Given the description of an element on the screen output the (x, y) to click on. 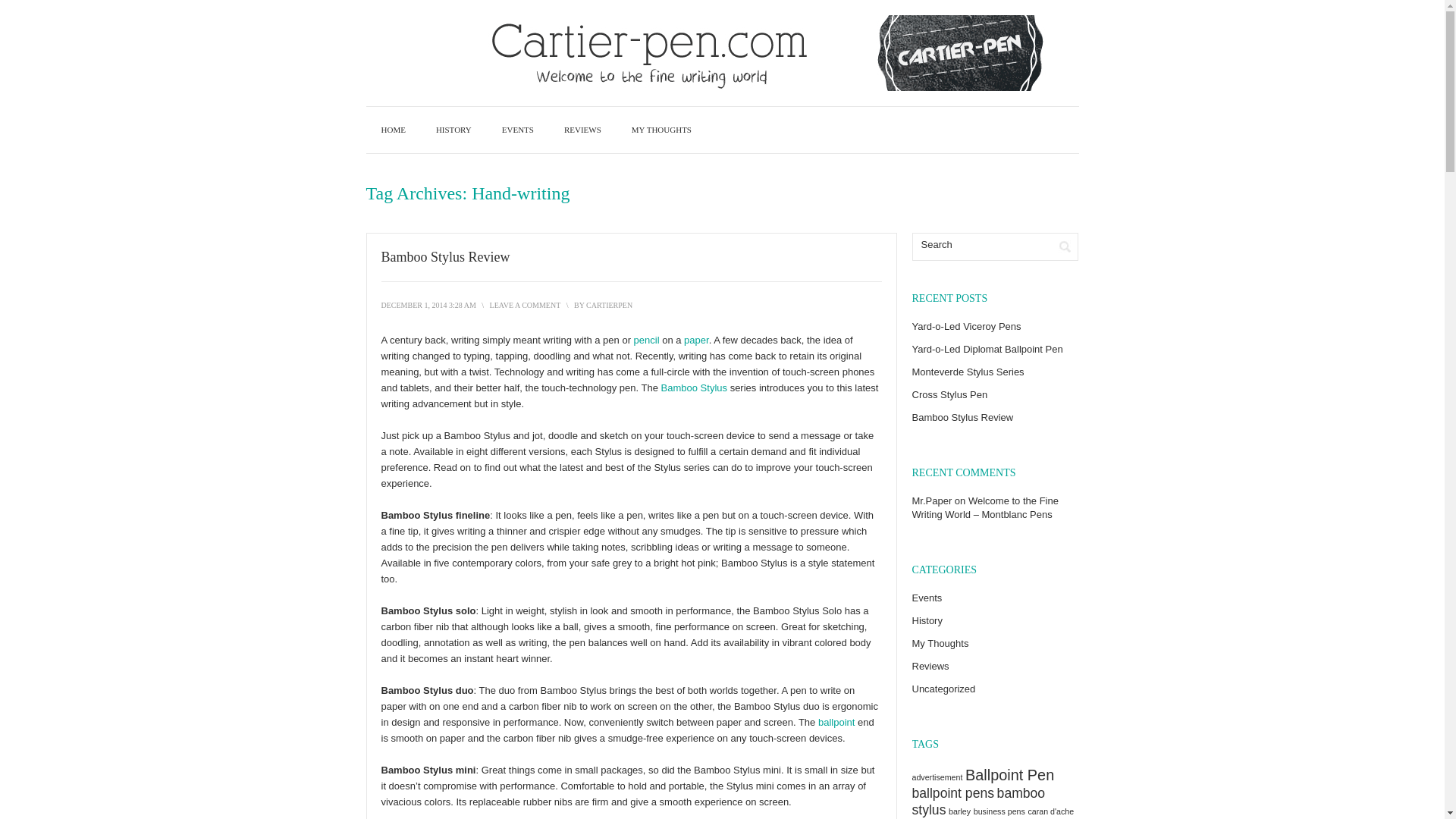
DECEMBER 1, 2014 3:28 AM (428, 305)
Search (980, 244)
Bamboo Stylus Review (444, 256)
Search (1064, 246)
Permalink to Bamboo Stylus Review (444, 256)
by cartierpen (608, 305)
Find the perfect ballpoint at Pen Boutique (837, 722)
HISTORY (453, 130)
LEAVE A COMMENT (524, 305)
MY THOUGHTS (660, 130)
Pen, Ink Reviews (581, 130)
Go to Homepage (392, 130)
History of Inks, Pens (453, 130)
paper (696, 339)
lokta paper are eco-friendly, germ-resistant paper (696, 339)
